Given the description of an element on the screen output the (x, y) to click on. 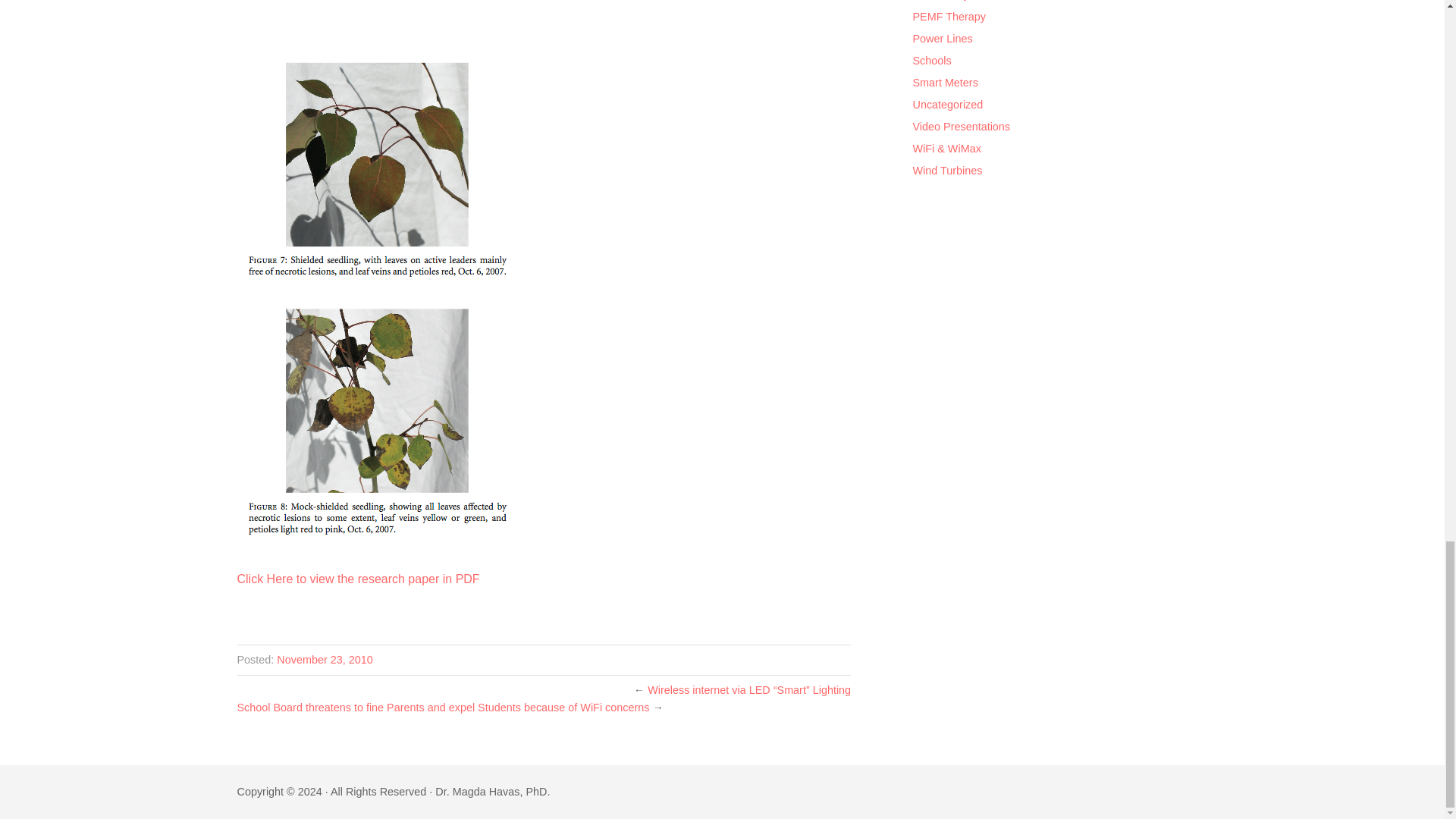
4:26 pm (324, 659)
